Given the description of an element on the screen output the (x, y) to click on. 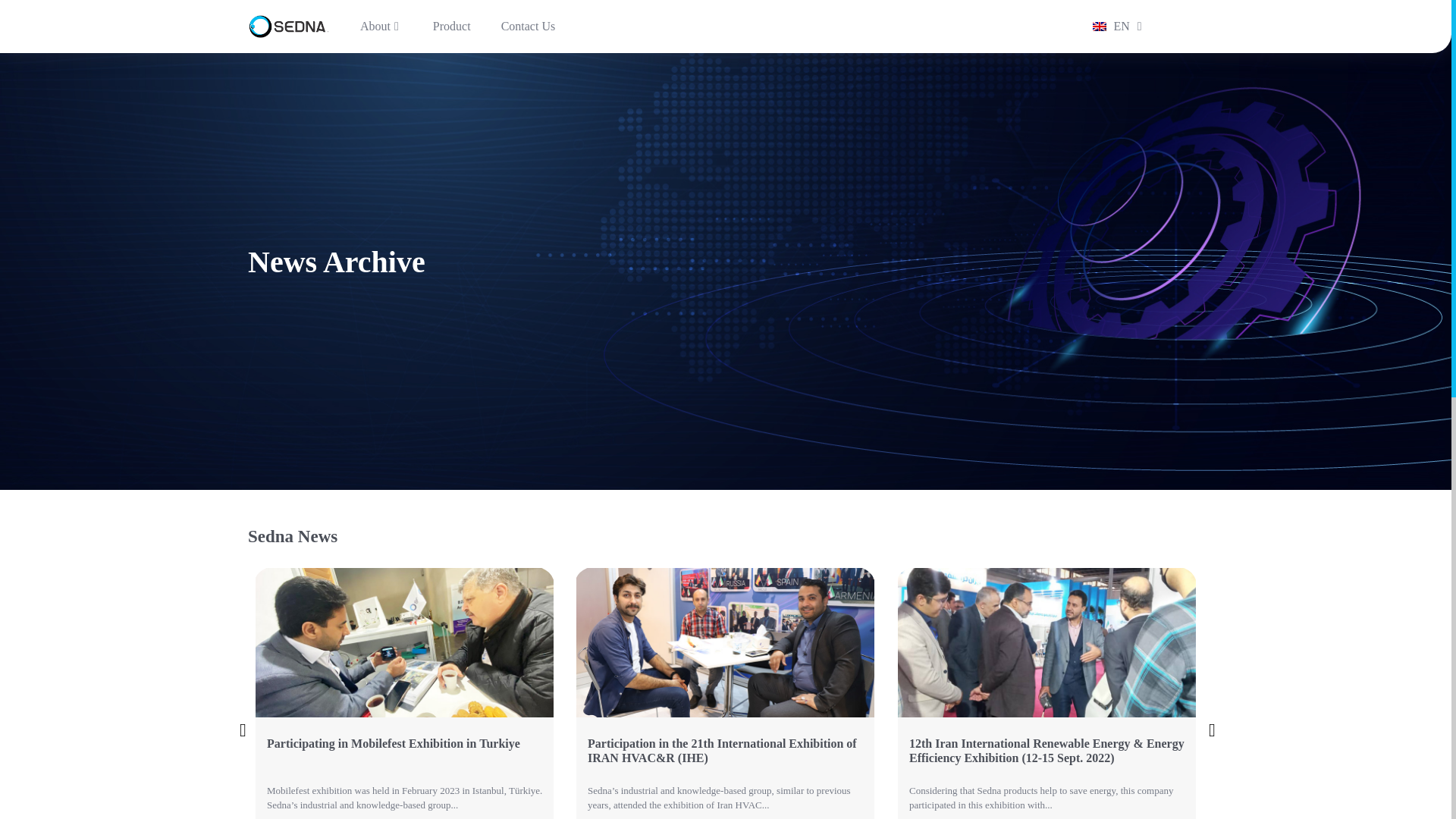
Participating in Mobilefest Exhibition in Turkiye (403, 752)
Contact Us (528, 26)
About (381, 26)
EN (1108, 26)
EN (1108, 26)
Product (452, 26)
